Given the description of an element on the screen output the (x, y) to click on. 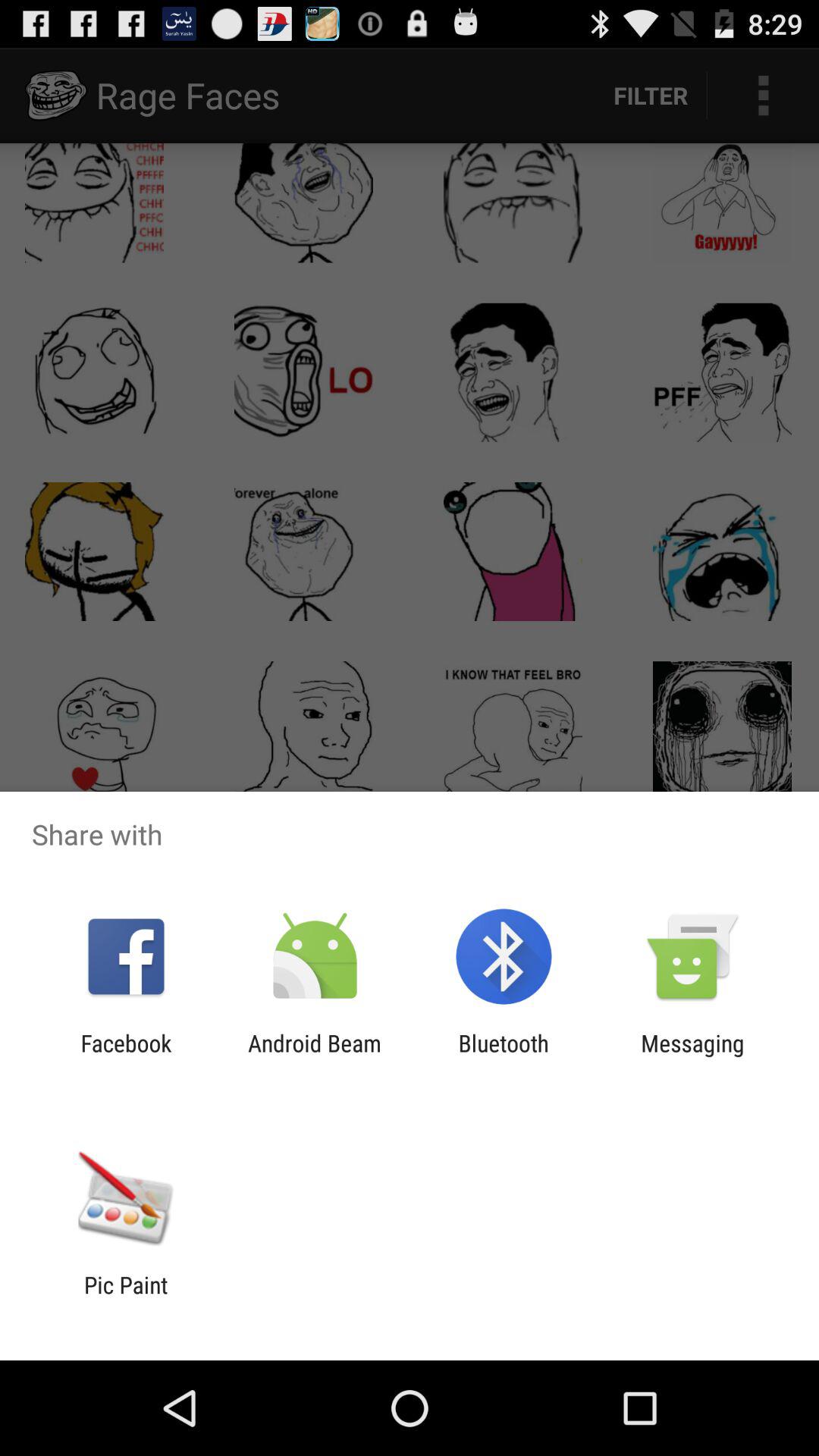
swipe to android beam item (314, 1056)
